Given the description of an element on the screen output the (x, y) to click on. 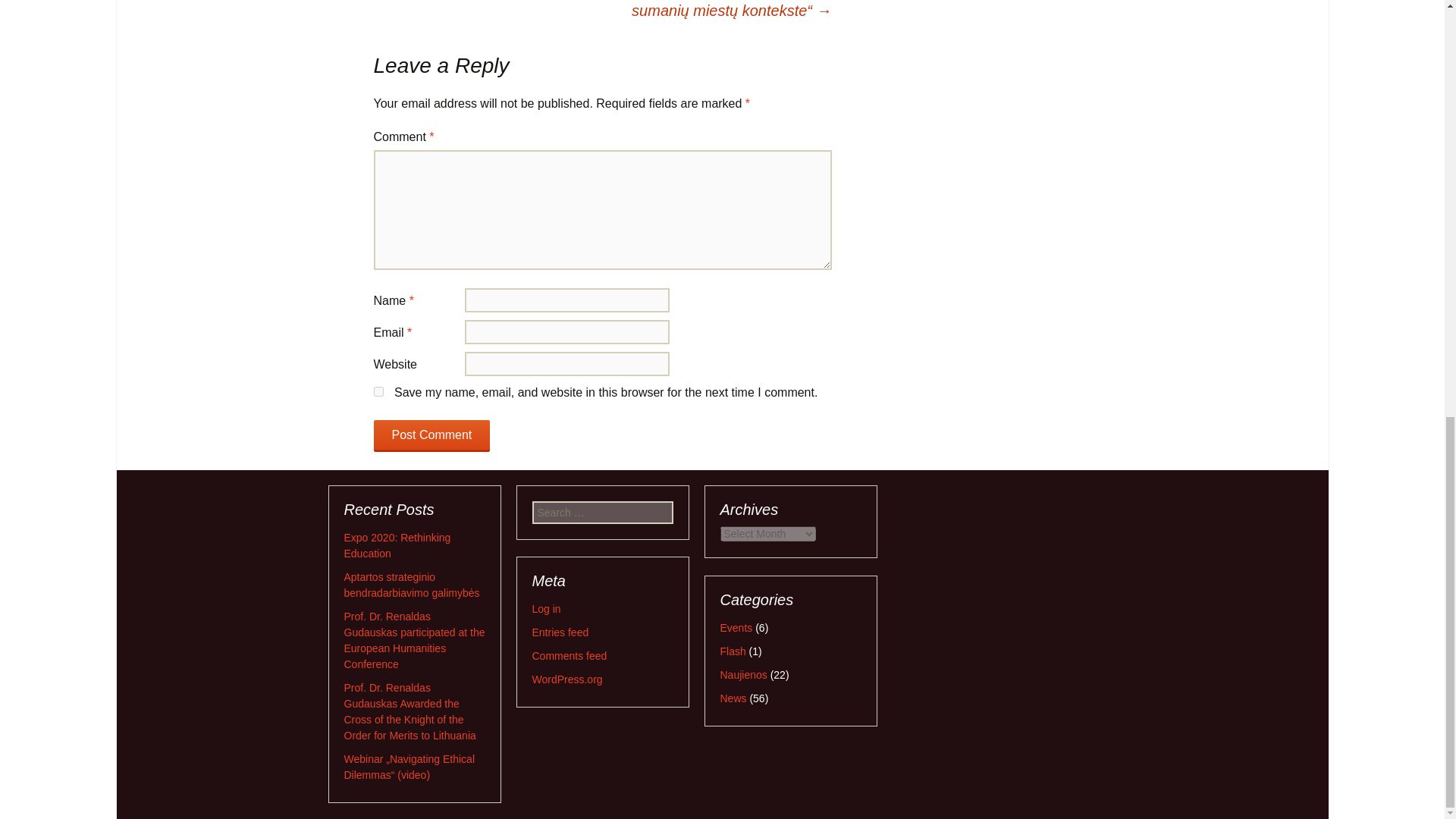
Post Comment (430, 436)
yes (377, 391)
Post Comment (430, 436)
